Given the description of an element on the screen output the (x, y) to click on. 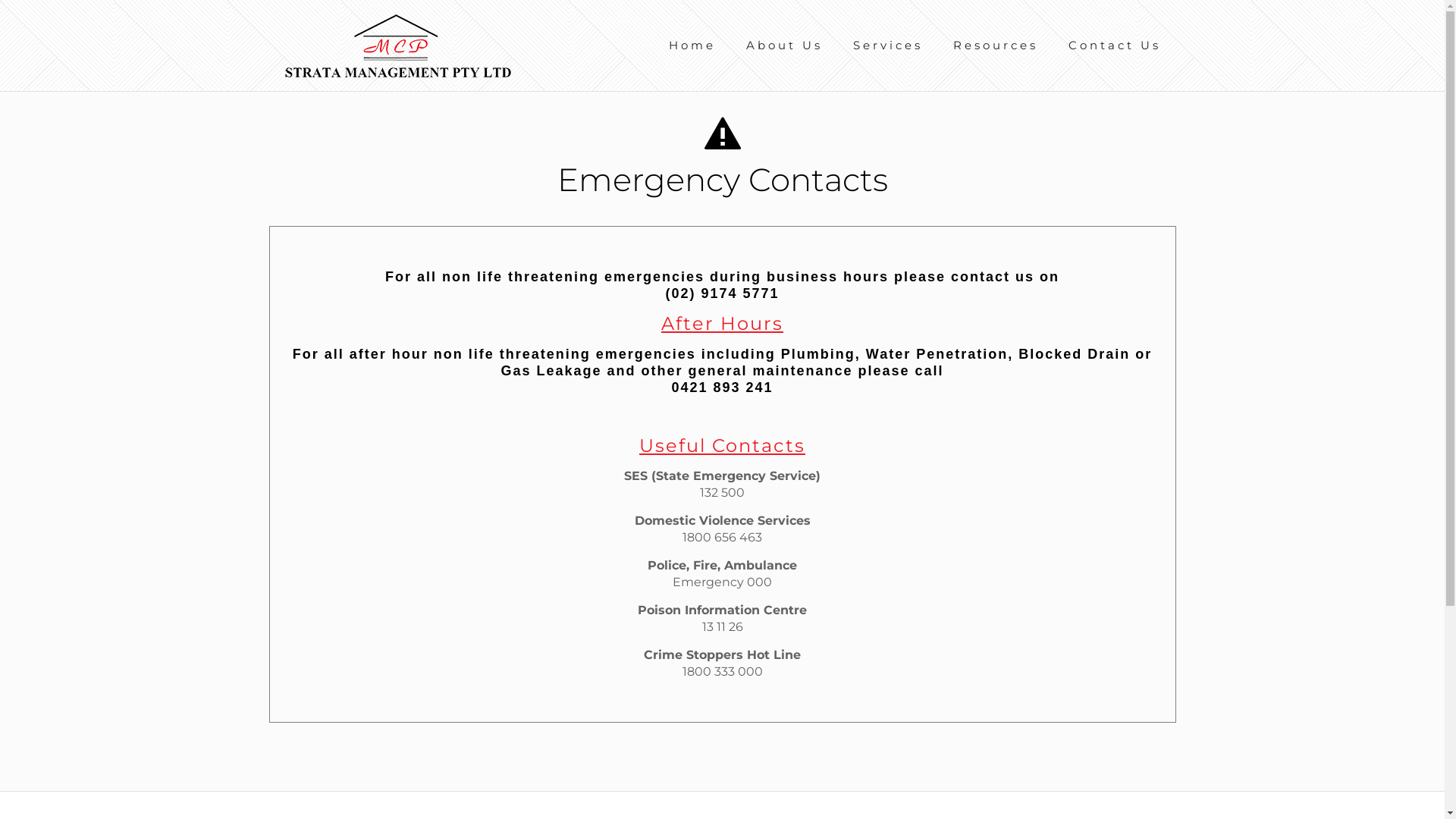
Resources Element type: text (994, 45)
Contact Us Element type: text (1113, 45)
About Us Element type: text (784, 45)
Services Element type: text (887, 45)
MCP Strata Management Element type: hover (397, 45)
Home Element type: text (692, 45)
